Given the description of an element on the screen output the (x, y) to click on. 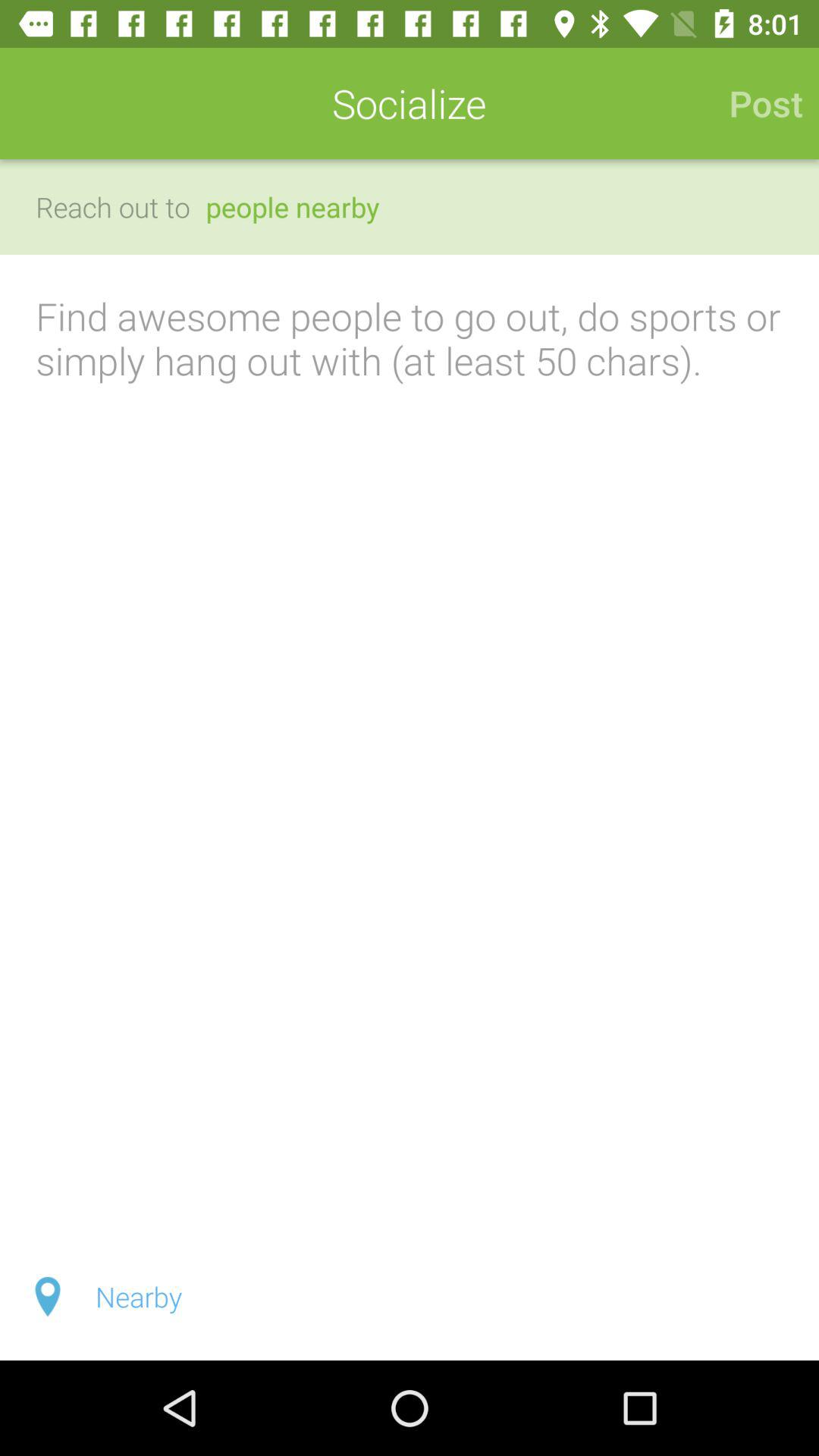
post a note at least 50 characters (409, 743)
